Given the description of an element on the screen output the (x, y) to click on. 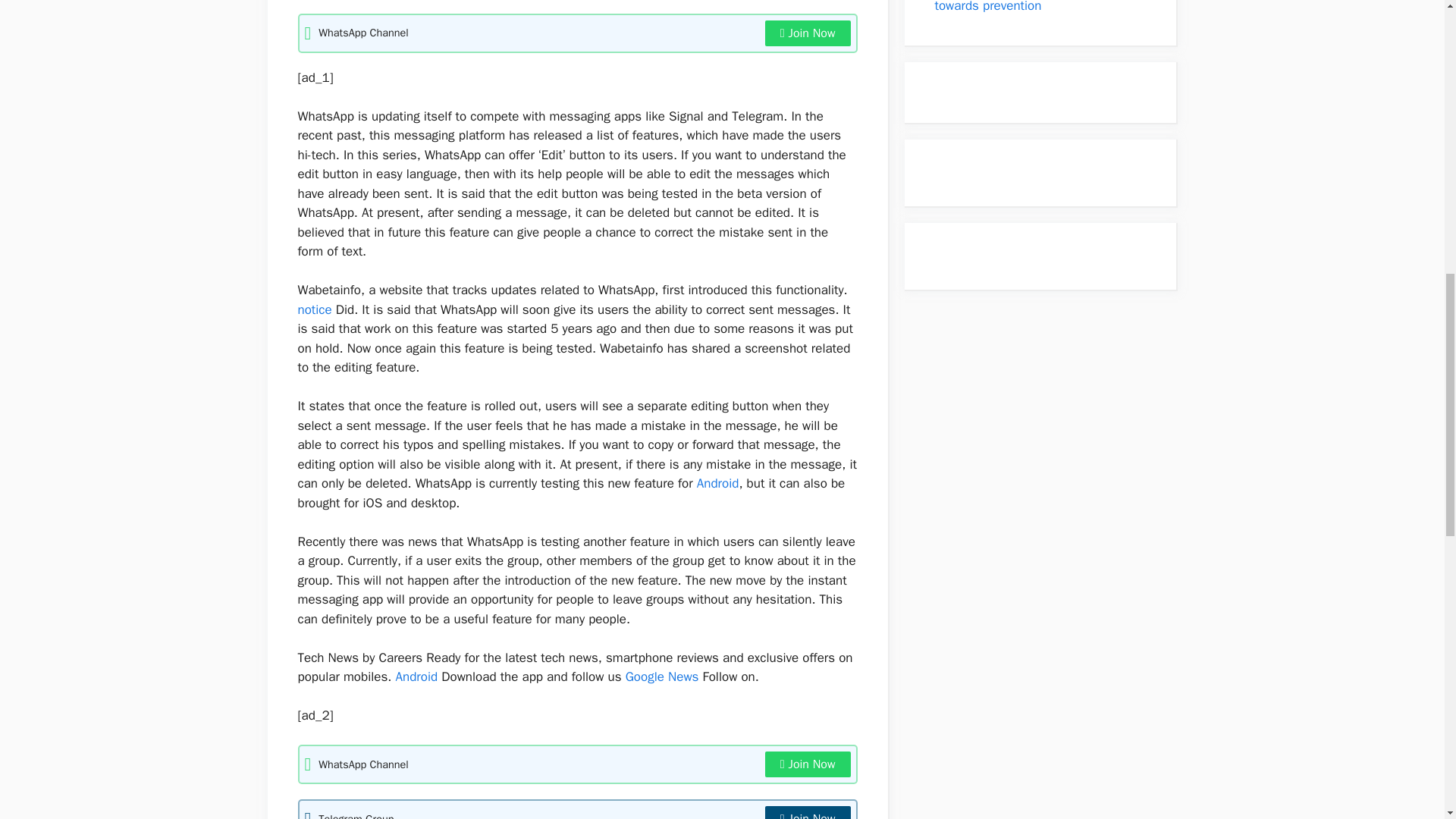
Join Now (807, 812)
Google News (662, 676)
Android (718, 483)
notice (314, 309)
Join Now (807, 32)
Join Now (807, 764)
Android (417, 676)
